Given the description of an element on the screen output the (x, y) to click on. 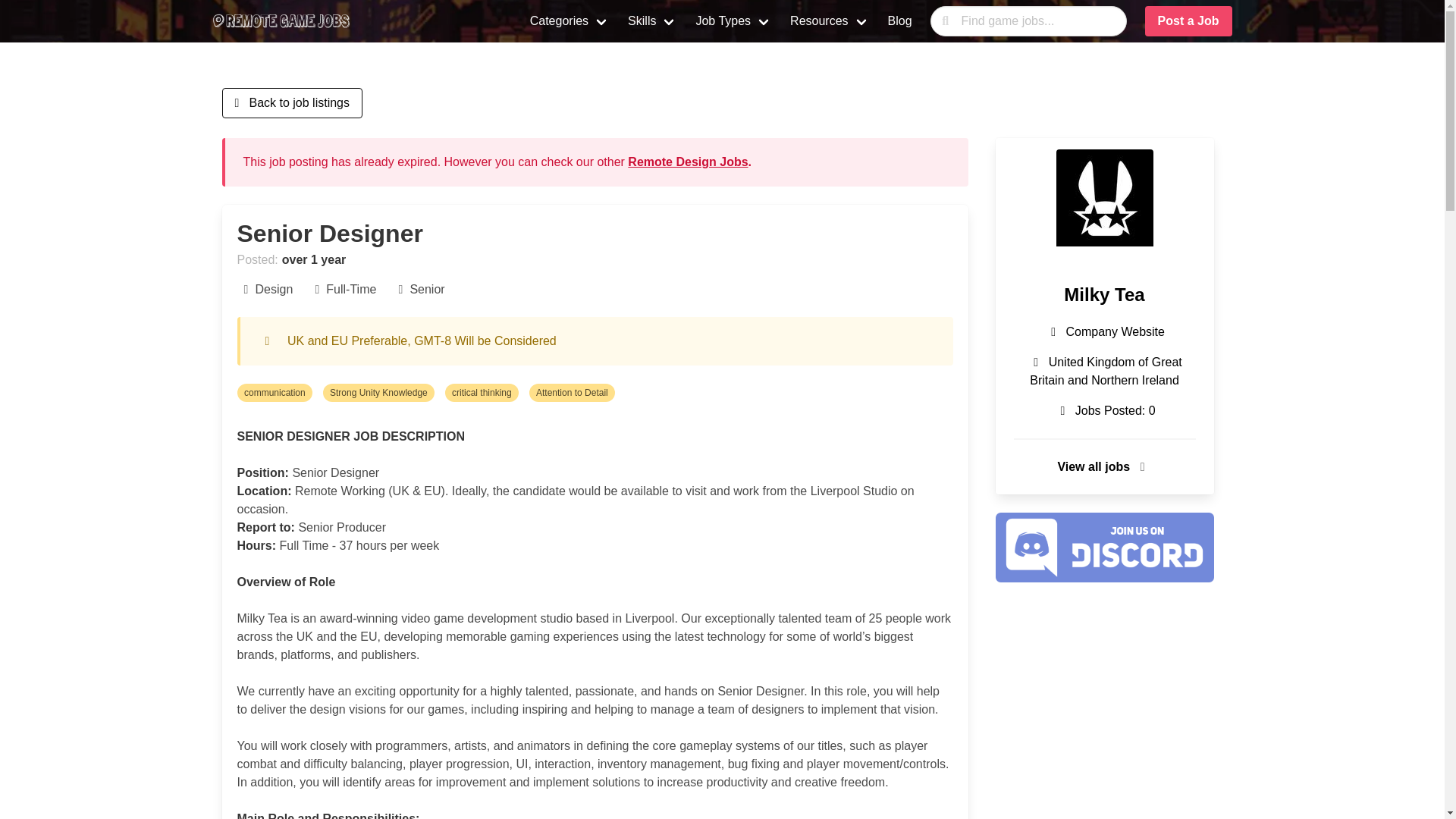
Categories (569, 21)
Skills (651, 21)
RemoteGameJobs Blog (900, 21)
Find more communication remote jobs (278, 395)
Milky Tea Remote Game Jobs (1104, 294)
Find more Strong Unity Knowledge remote jobs (384, 395)
Job Types (732, 21)
Join Remote Game Jobs Discord Server (1103, 577)
Milky Tea Remote Game Jobs (1104, 197)
Find more critical thinking remote jobs (487, 395)
Search for remote game jobs (1028, 20)
Find more Attention to Detail remote jobs (576, 395)
